Given the description of an element on the screen output the (x, y) to click on. 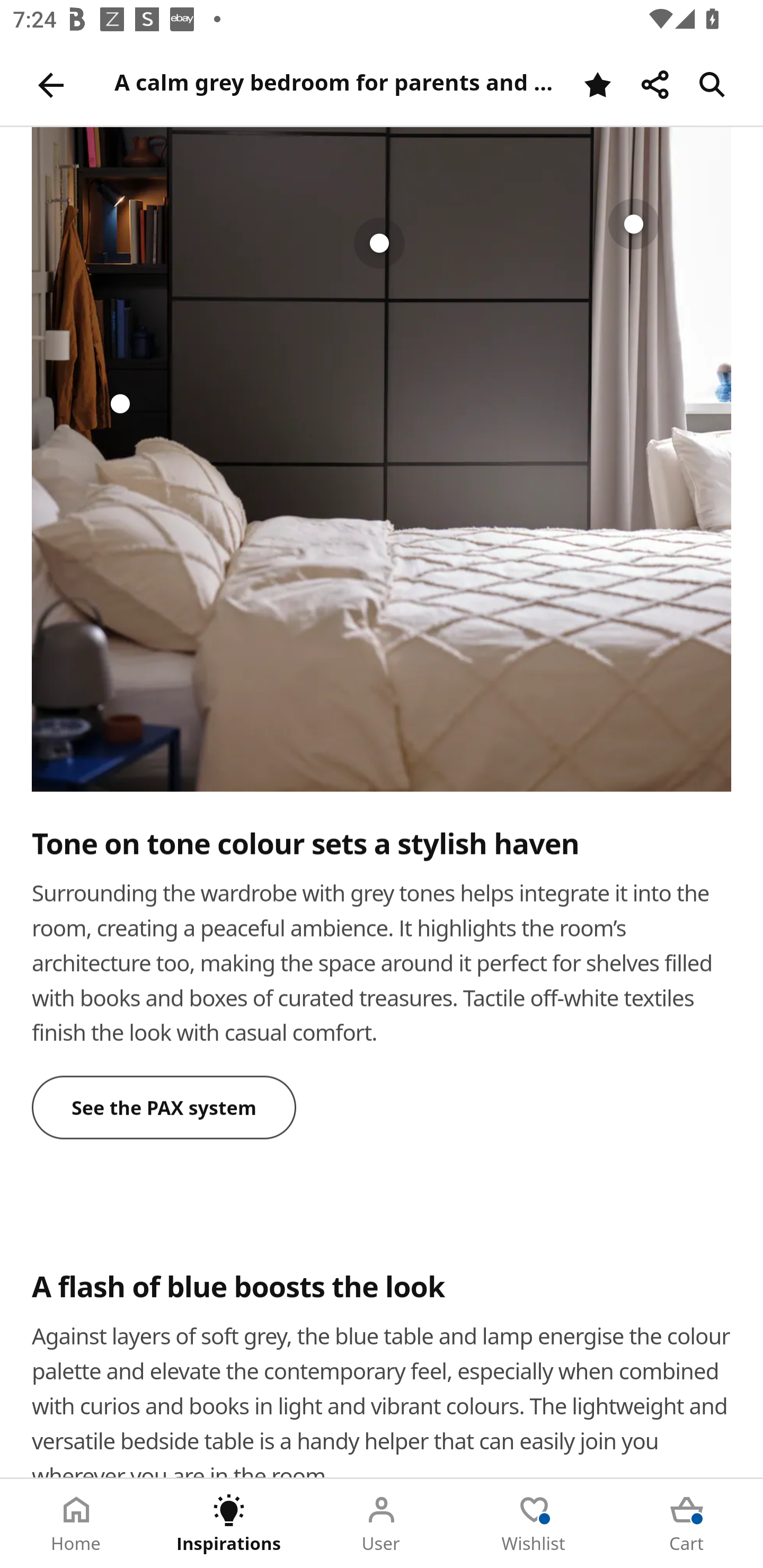
See the PAX system (164, 1106)
Home
Tab 1 of 5 (76, 1522)
Inspirations
Tab 2 of 5 (228, 1522)
User
Tab 3 of 5 (381, 1522)
Wishlist
Tab 4 of 5 (533, 1522)
Cart
Tab 5 of 5 (686, 1522)
